Given the description of an element on the screen output the (x, y) to click on. 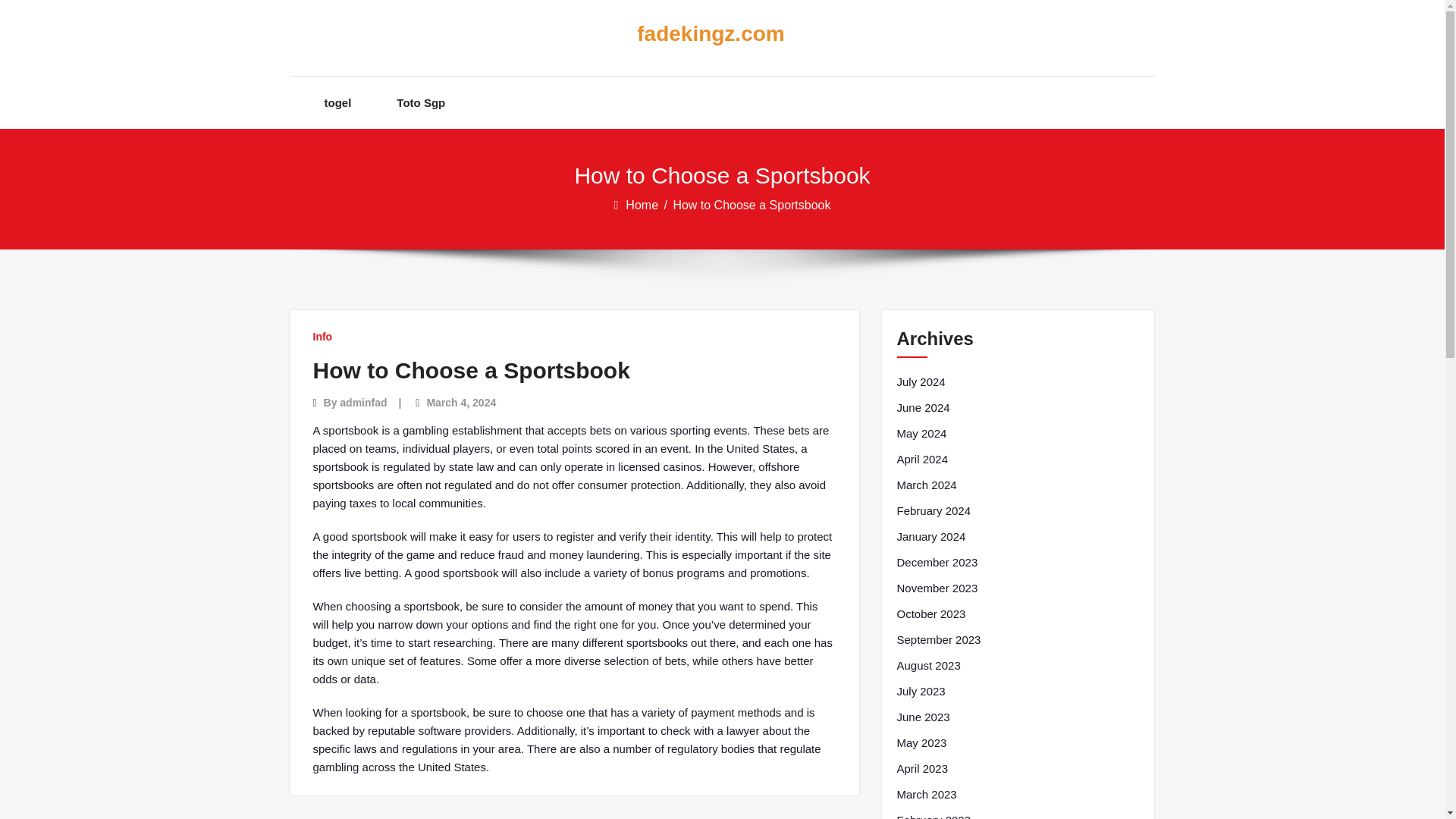
May 2024 (921, 434)
July 2024 (920, 382)
February 2023 (933, 815)
July 2023 (920, 691)
March 2024 (926, 484)
February 2024 (933, 511)
June 2024 (922, 407)
January 2024 (930, 536)
December 2023 (936, 562)
June 2023 (922, 717)
adminfad (363, 402)
March 4, 2024 (461, 402)
Toto Sgp (420, 102)
September 2023 (937, 639)
fadekingz.com (710, 34)
